Given the description of an element on the screen output the (x, y) to click on. 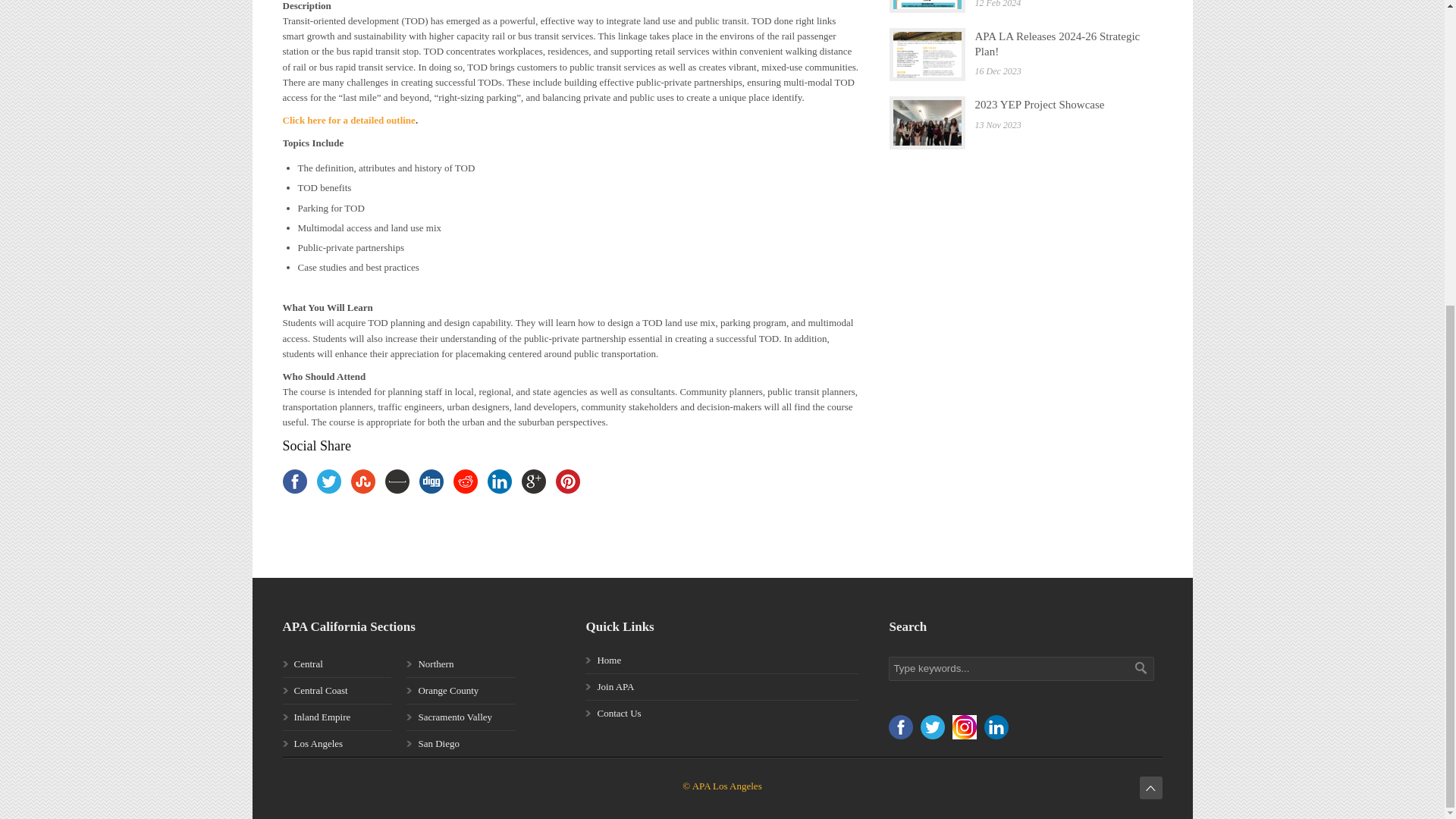
Click here for a detailed outline (348, 120)
Type keywords... (1021, 668)
